Given the description of an element on the screen output the (x, y) to click on. 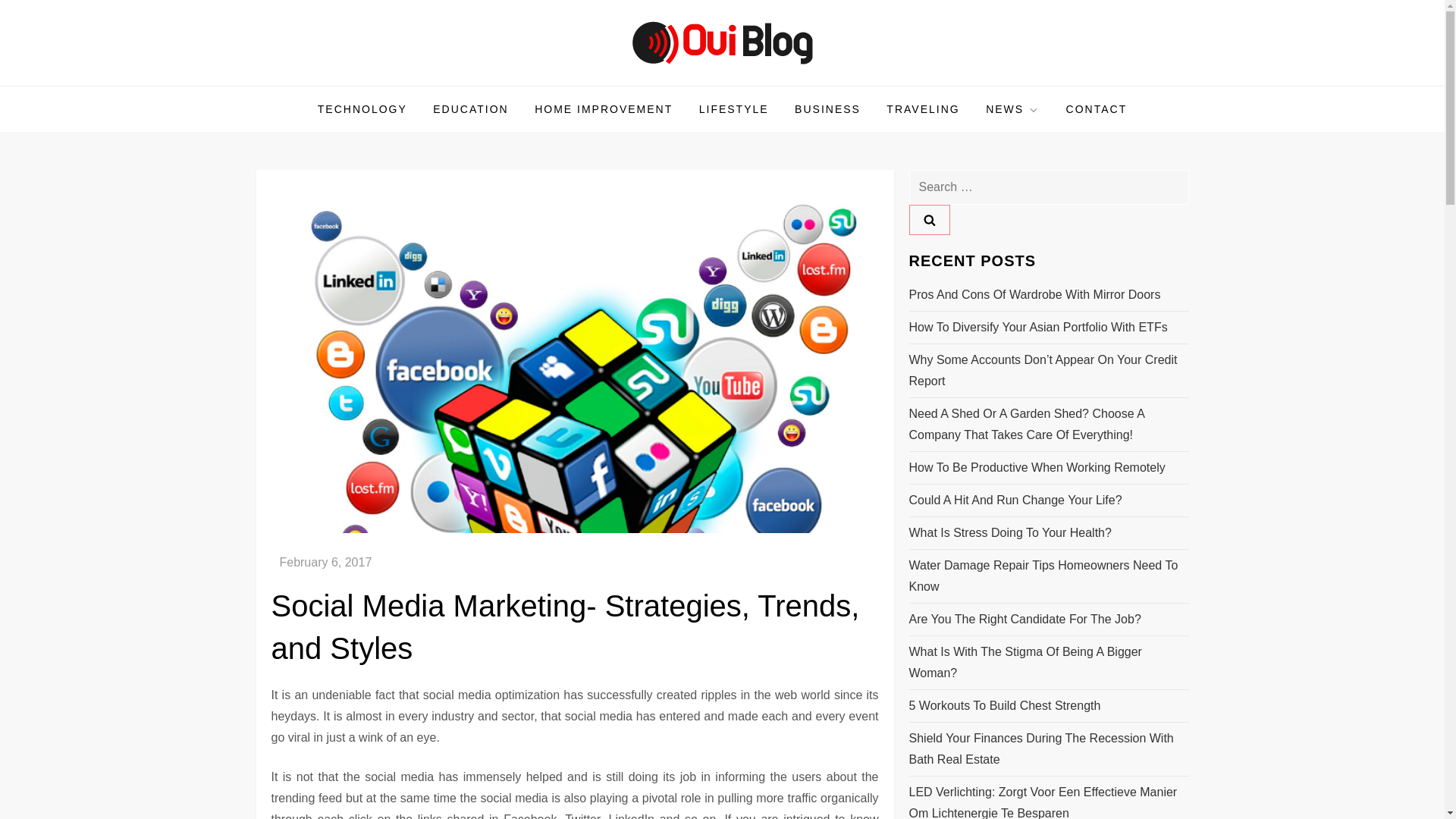
How To Diversify Your Asian Portfolio With ETFs (1037, 327)
Pros And Cons Of Wardrobe With Mirror Doors (1034, 294)
Water Damage Repair Tips Homeowners Need To Know (1048, 576)
NEWS (1012, 108)
Could A Hit And Run Change Your Life? (1014, 500)
CONTACT (1096, 108)
What Is Stress Doing To Your Health? (1009, 532)
Search (928, 219)
5 Workouts To Build Chest Strength (1004, 705)
How To Be Productive When Working Remotely (1036, 467)
TRAVELING (923, 108)
Are You The Right Candidate For The Job? (1024, 619)
BUSINESS (827, 108)
